Given the description of an element on the screen output the (x, y) to click on. 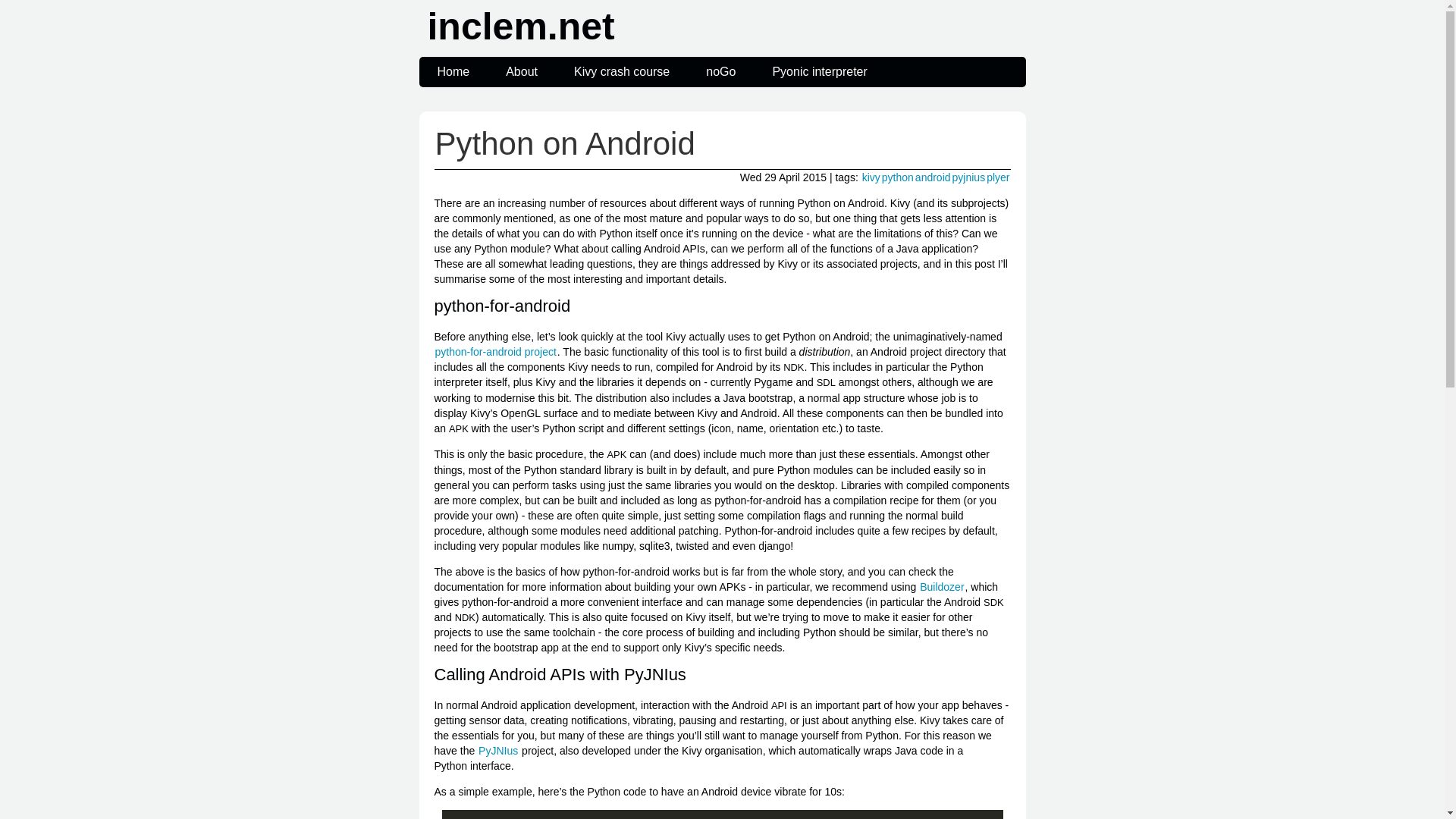
python (897, 177)
plyer (997, 177)
About (521, 71)
Home (453, 71)
noGo (720, 71)
Python on Android (564, 143)
Buildozer (940, 586)
python-for-android project (494, 351)
kivy (870, 177)
Pyonic interpreter (819, 71)
android (933, 177)
Kivy crash course (621, 71)
PyJNIus (497, 750)
pyjnius (969, 177)
